Given the description of an element on the screen output the (x, y) to click on. 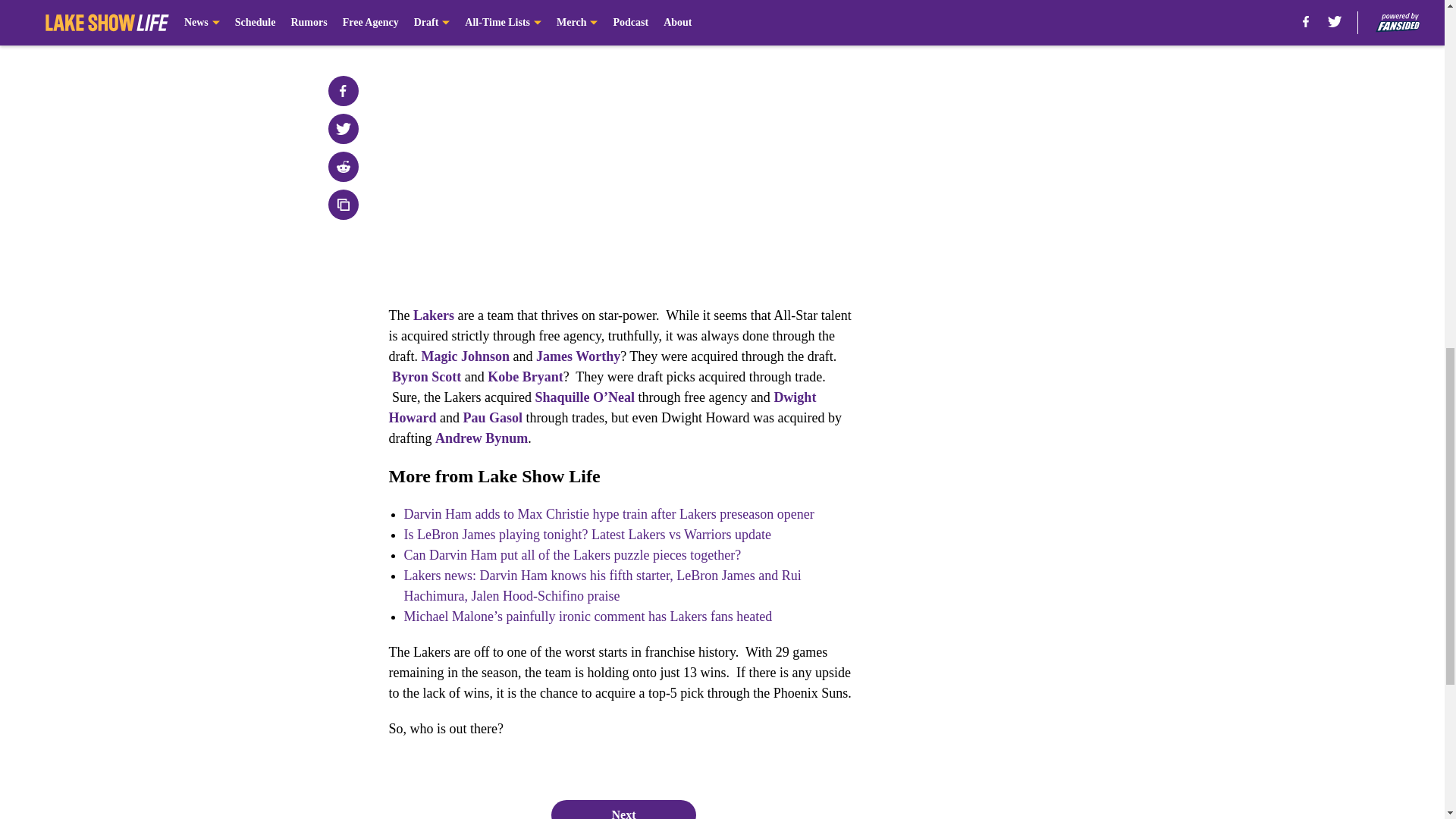
Prev (433, 5)
Magic Johnson (464, 355)
Lakers (433, 314)
Next (813, 5)
James Worthy (577, 355)
Byron Scott (426, 376)
